Given the description of an element on the screen output the (x, y) to click on. 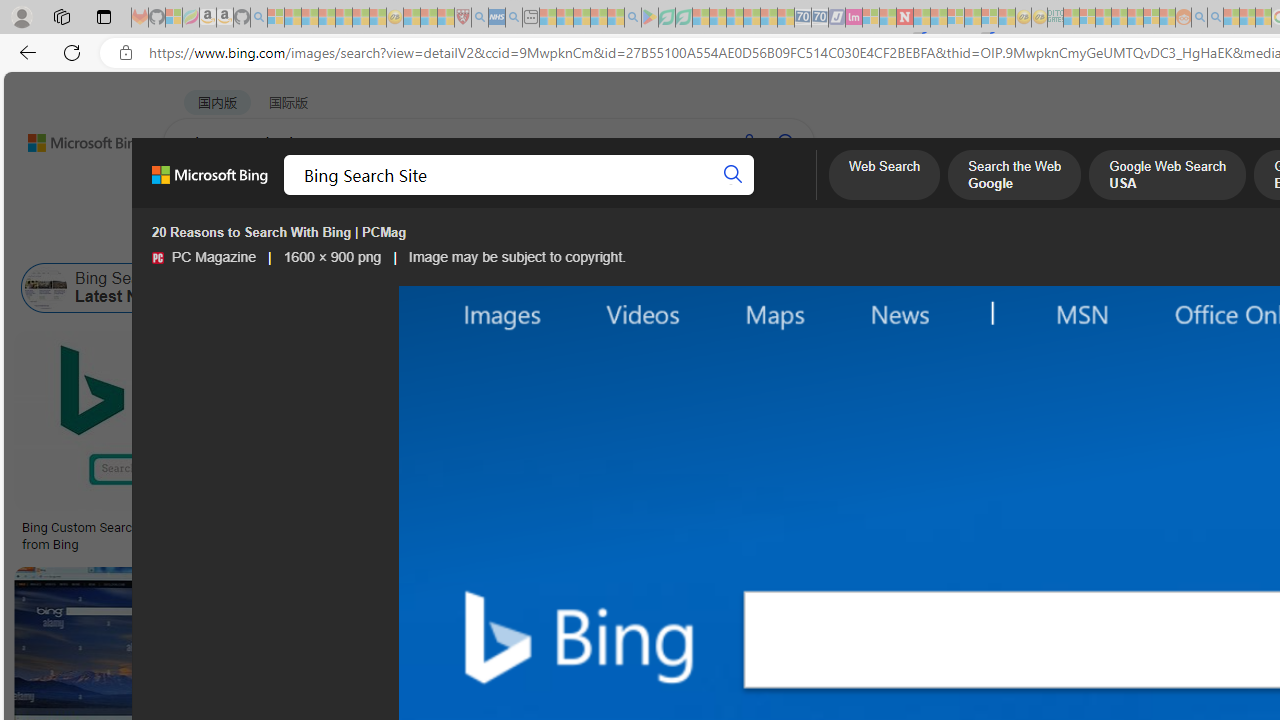
Bing Custom Search: A New Site Search Solution from Bing (169, 535)
Local - MSN - Sleeping (445, 17)
Color (305, 237)
Expert Portfolios - Sleeping (1119, 17)
utah sues federal government - Search - Sleeping (513, 17)
Bing Searches Today (502, 287)
Type (373, 237)
License (665, 237)
Bing Home Screen (625, 287)
